Given the description of an element on the screen output the (x, y) to click on. 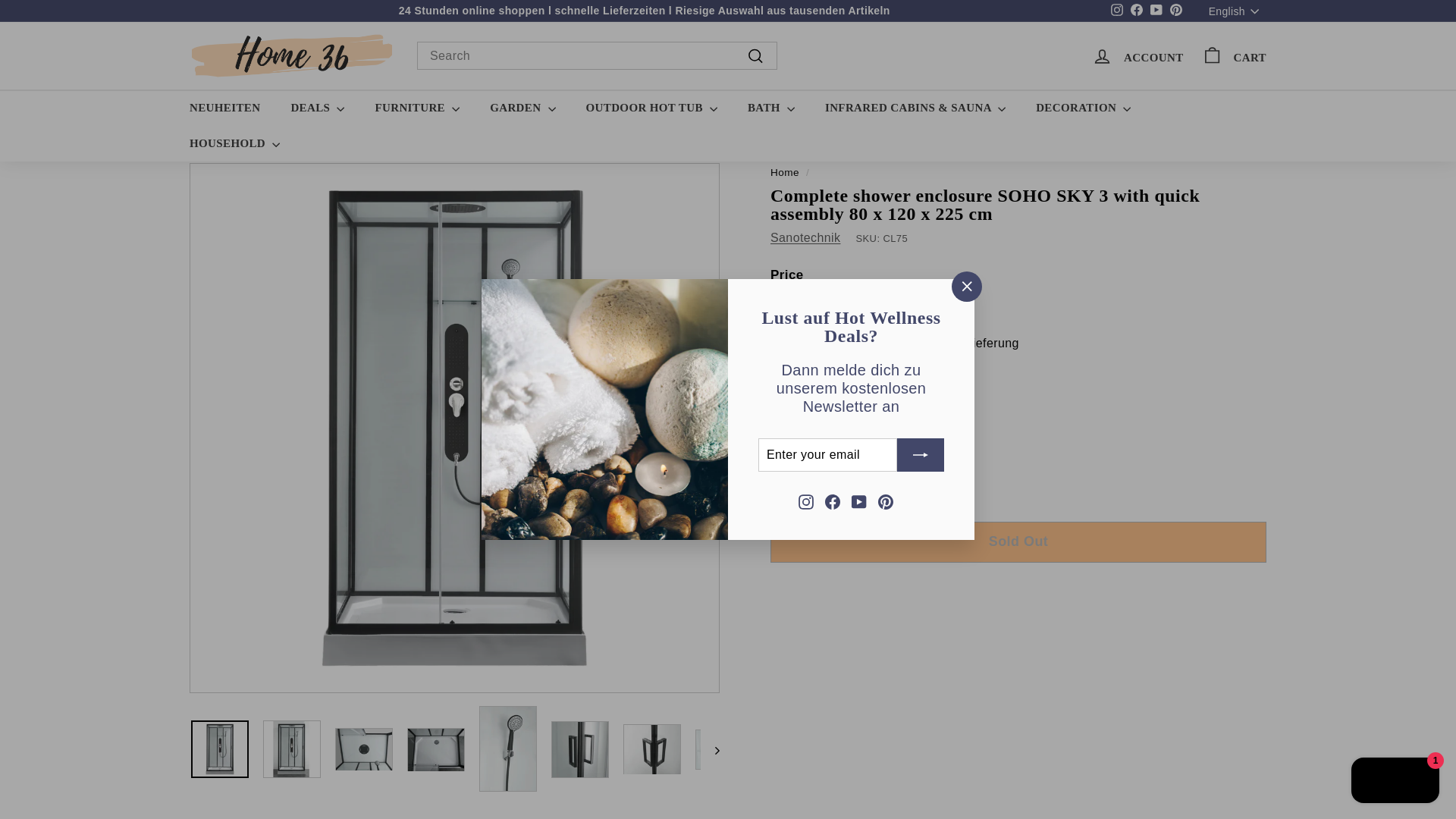
ACCOUNT (1137, 55)
Home 36 Gmbh  on YouTube (858, 500)
Home 36 Gmbh  on Instagram (804, 500)
CART (1233, 55)
instagram (1116, 9)
Home 36 Gmbh  on Facebook (1136, 10)
Home 36 Gmbh  on YouTube (1156, 10)
NEUHEITEN (224, 108)
Home 36 Gmbh  on Facebook (832, 500)
English (1237, 11)
1 (1116, 10)
Pinterest (797, 463)
YouTube (1176, 10)
Home 36 Gmbh  on Pinterest (1156, 10)
